Given the description of an element on the screen output the (x, y) to click on. 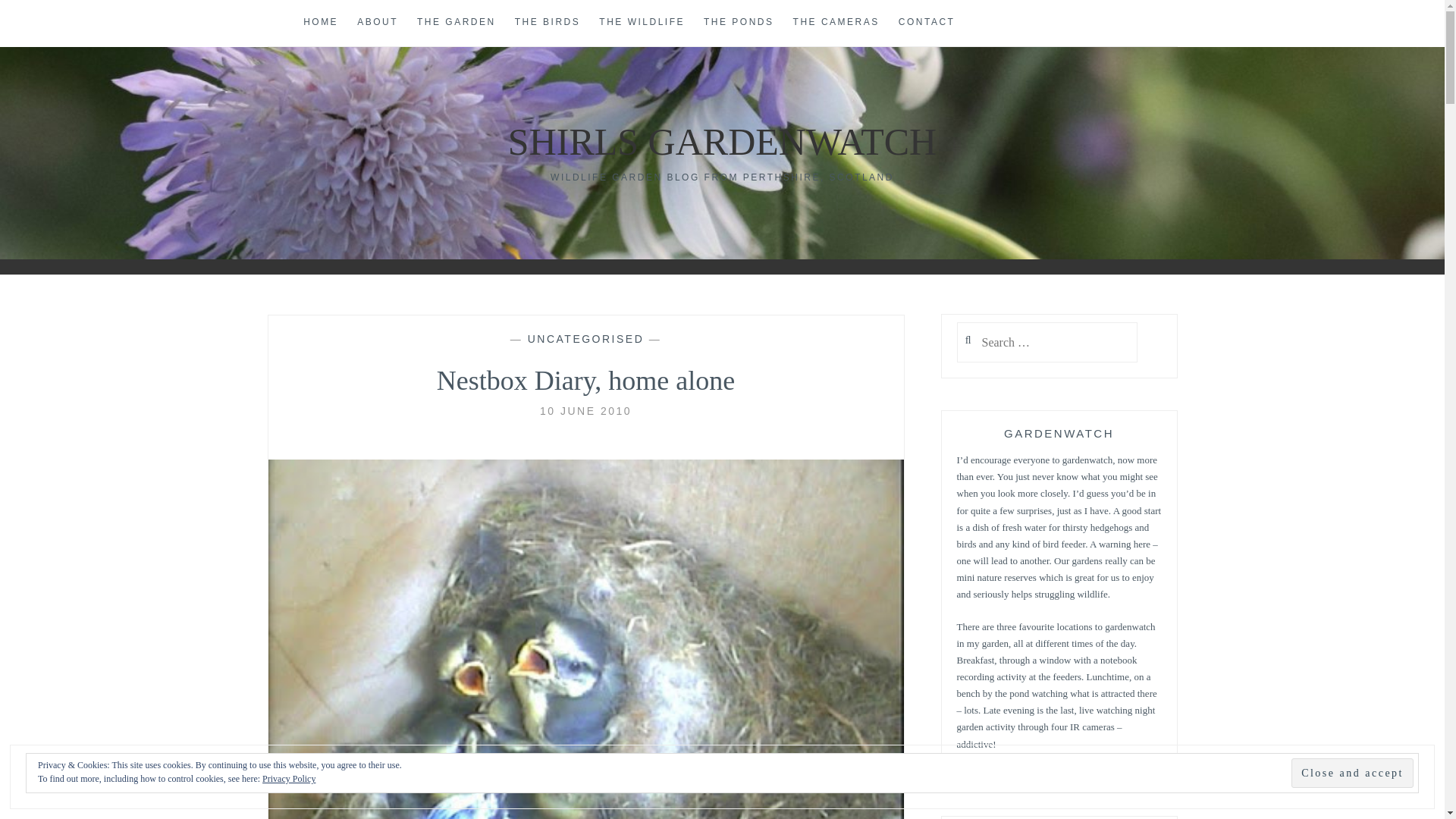
CONTACT (926, 22)
HOME (319, 22)
THE BIRDS (547, 22)
THE PONDS (738, 22)
ABOUT (376, 22)
THE GARDEN (456, 22)
Close and accept (1352, 772)
SHIRLS GARDENWATCH (722, 141)
UNCATEGORISED (586, 338)
THE CAMERAS (836, 22)
